Given the description of an element on the screen output the (x, y) to click on. 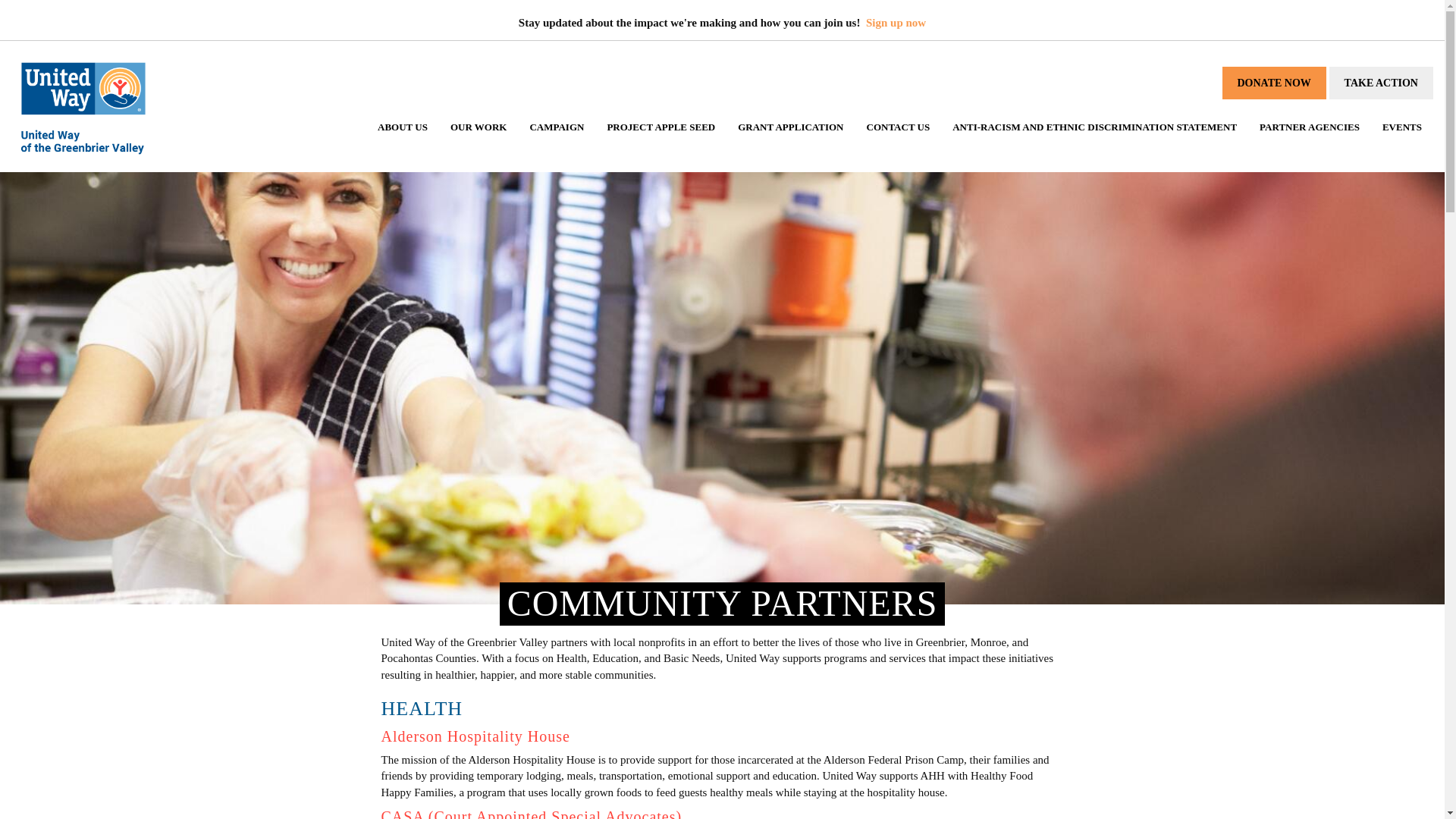
CONTACT US (899, 141)
EVENTS (1401, 141)
ABOUT US (402, 141)
PARTNER AGENCIES (1309, 141)
OUR WORK (478, 141)
CAMPAIGN (556, 141)
TAKE ACTION (1380, 82)
PROJECT APPLE SEED (660, 141)
Sign up now (896, 22)
DONATE NOW (1274, 82)
ANTI-RACISM AND ETHNIC DISCRIMINATION STATEMENT (1093, 141)
GRANT APPLICATION (790, 141)
Home (82, 107)
